Given the description of an element on the screen output the (x, y) to click on. 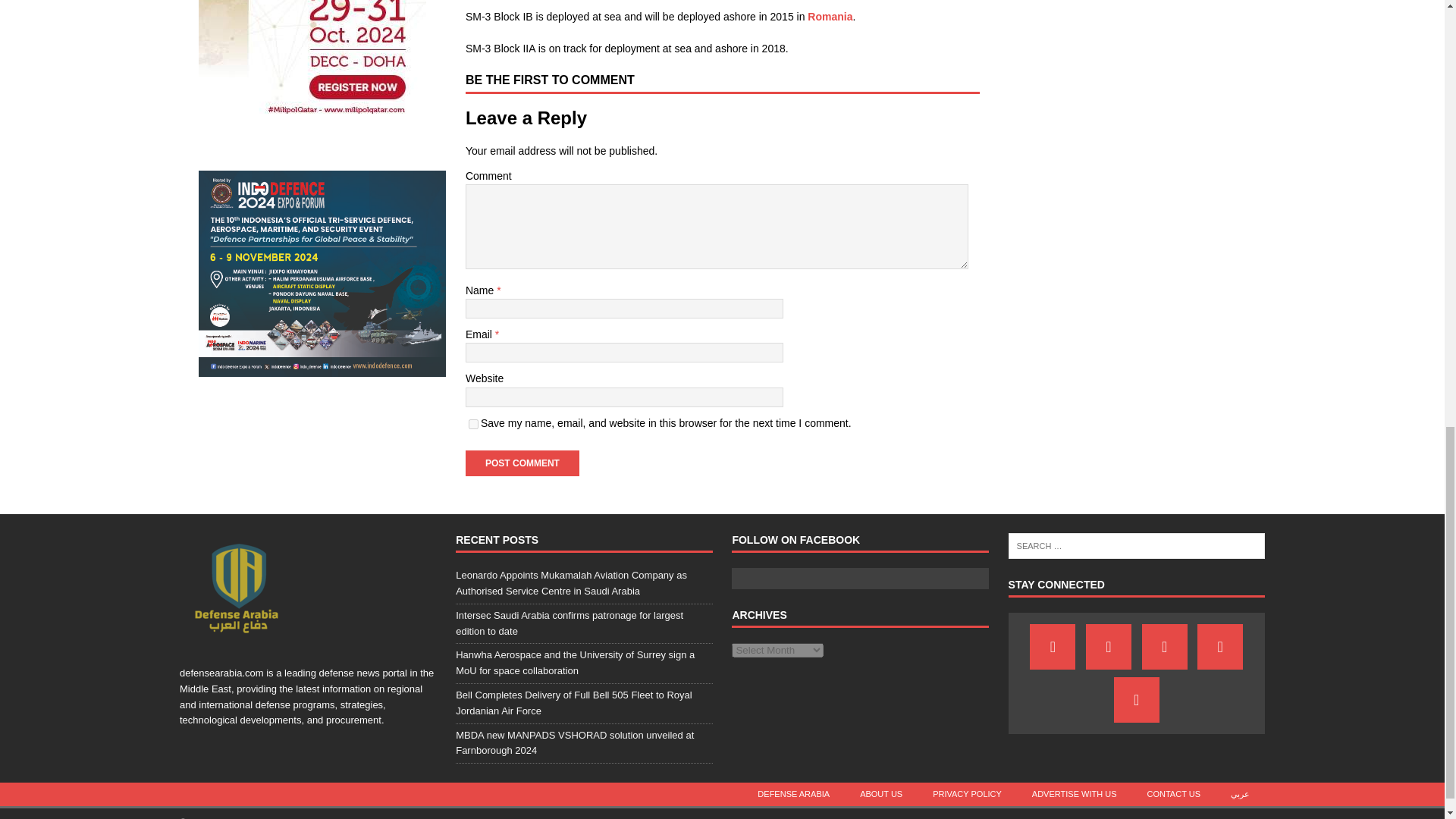
yes (473, 424)
Post Comment (522, 462)
